Given the description of an element on the screen output the (x, y) to click on. 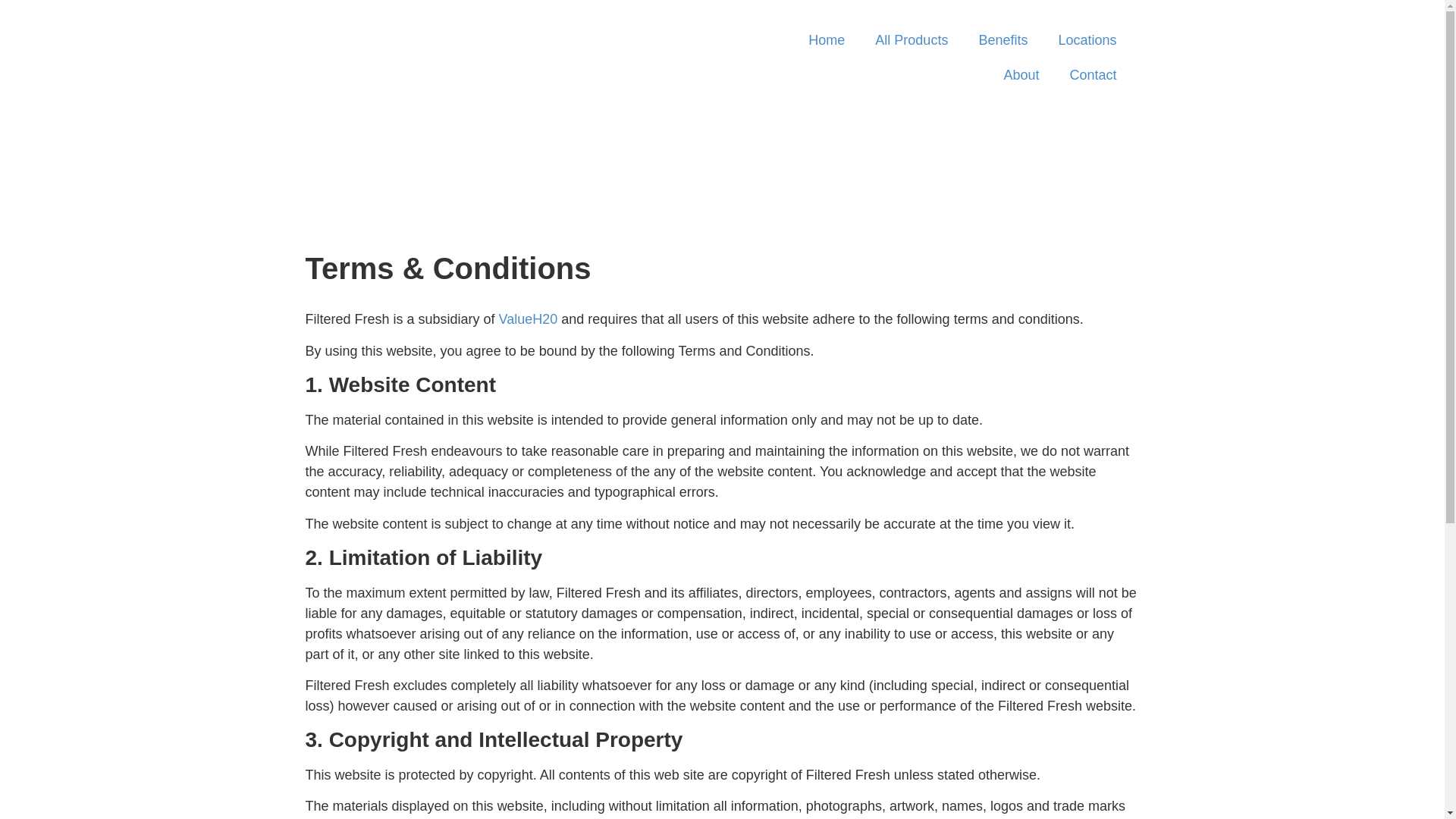
Home Element type: text (826, 39)
All Products Element type: text (911, 39)
About Element type: text (1021, 74)
ValueH20 Element type: text (528, 318)
Benefits Element type: text (1002, 39)
Locations Element type: text (1086, 39)
Contact Element type: text (1092, 74)
